Given the description of an element on the screen output the (x, y) to click on. 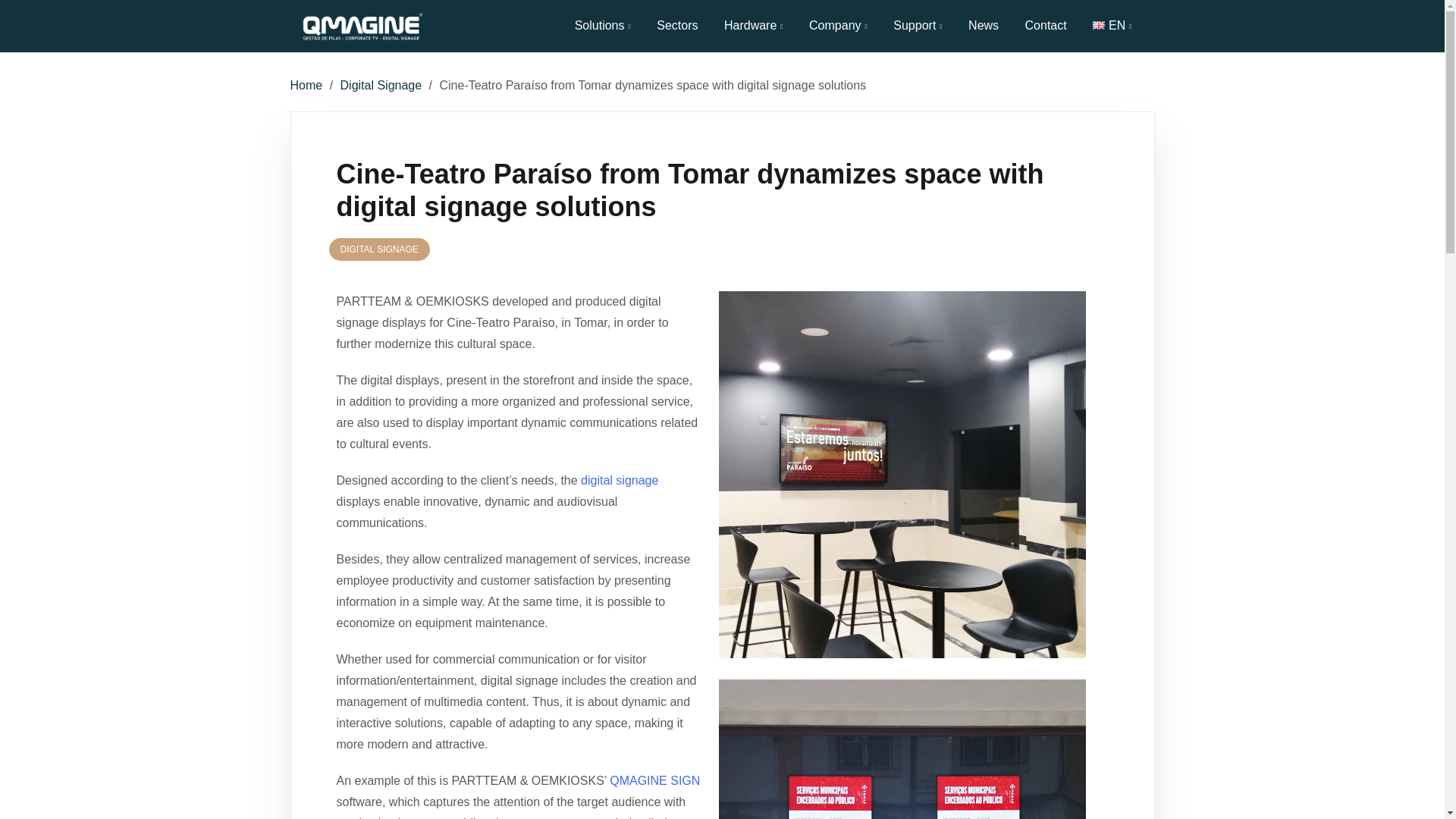
Support (917, 25)
News (983, 25)
Sectors (676, 25)
Solutions (602, 25)
Contact (1046, 25)
Company (838, 25)
EN (1112, 25)
Hardware (753, 25)
QMAGINE SIGN (655, 780)
Home (305, 84)
EN (1099, 25)
Digital Signage (381, 84)
DIGITAL SIGNAGE (379, 249)
digital signage (619, 480)
